Given the description of an element on the screen output the (x, y) to click on. 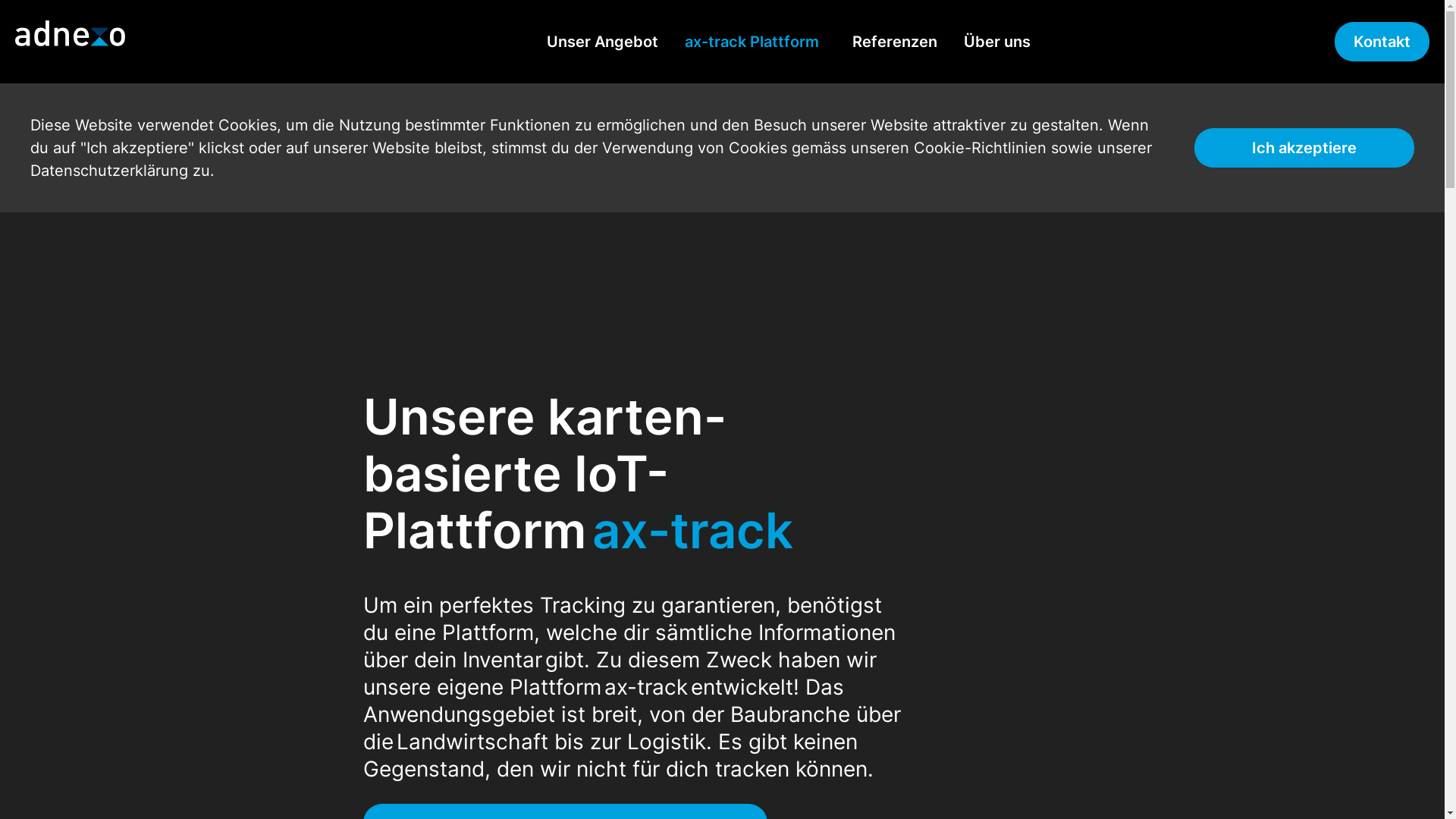
Ich akzeptiere Element type: text (1304, 147)
Kontakt Element type: text (1381, 41)
Referenzen Element type: text (894, 41)
Unser Angebot Element type: text (602, 41)
ax-track Plattform Element type: text (751, 41)
Cookie-Richtlinien Element type: text (979, 147)
